Given the description of an element on the screen output the (x, y) to click on. 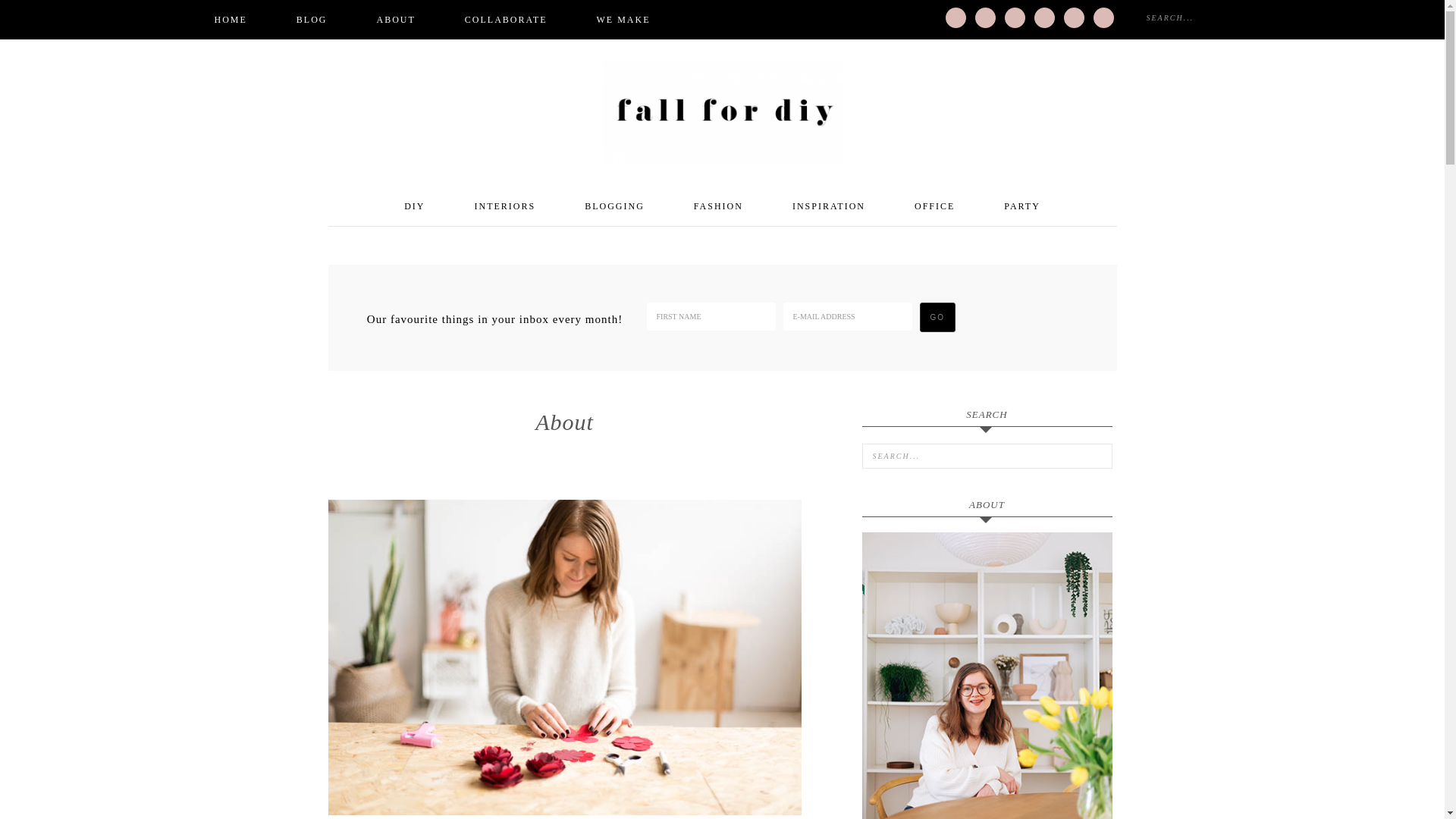
BLOGGING (614, 206)
INTERIORS (504, 206)
INSPIRATION (829, 206)
Go (936, 317)
FASHION (718, 206)
ABOUT (395, 19)
DIY (413, 206)
HOME (229, 19)
OFFICE (933, 206)
BLOG (311, 19)
WE MAKE (622, 19)
